Given the description of an element on the screen output the (x, y) to click on. 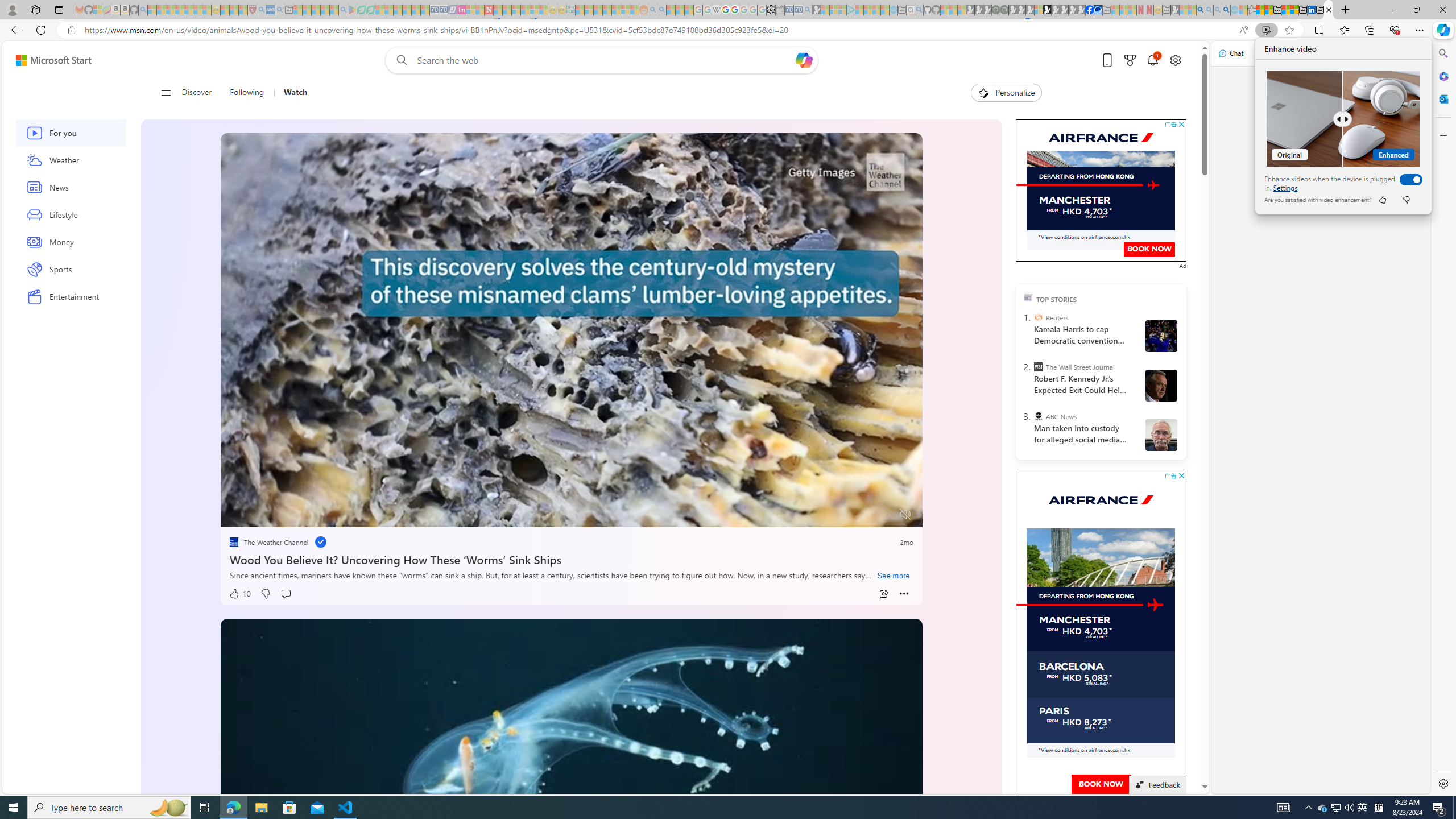
Web search (398, 60)
Open navigation menu (164, 92)
ABC News (1037, 415)
Local - MSN - Sleeping (242, 9)
More (903, 593)
Watch (295, 92)
Task View (204, 807)
Q2790: 100% (1349, 807)
Tray Input Indicator - Chinese (Simplified, China) (1378, 807)
